Given the description of an element on the screen output the (x, y) to click on. 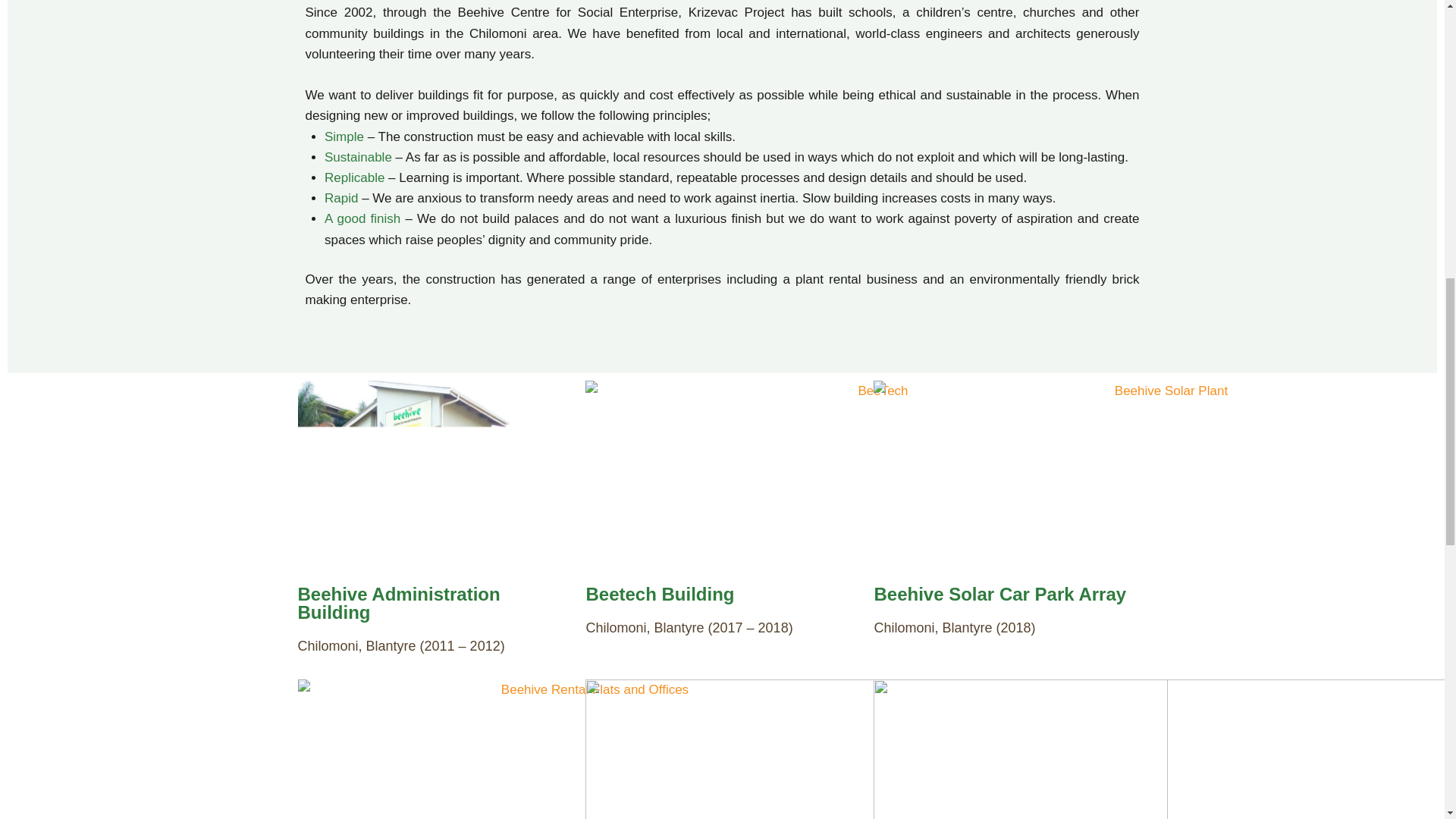
Beehive Administration Building (398, 602)
Beehive Solar Car Park Array (999, 593)
Beetech Building (659, 593)
